Given the description of an element on the screen output the (x, y) to click on. 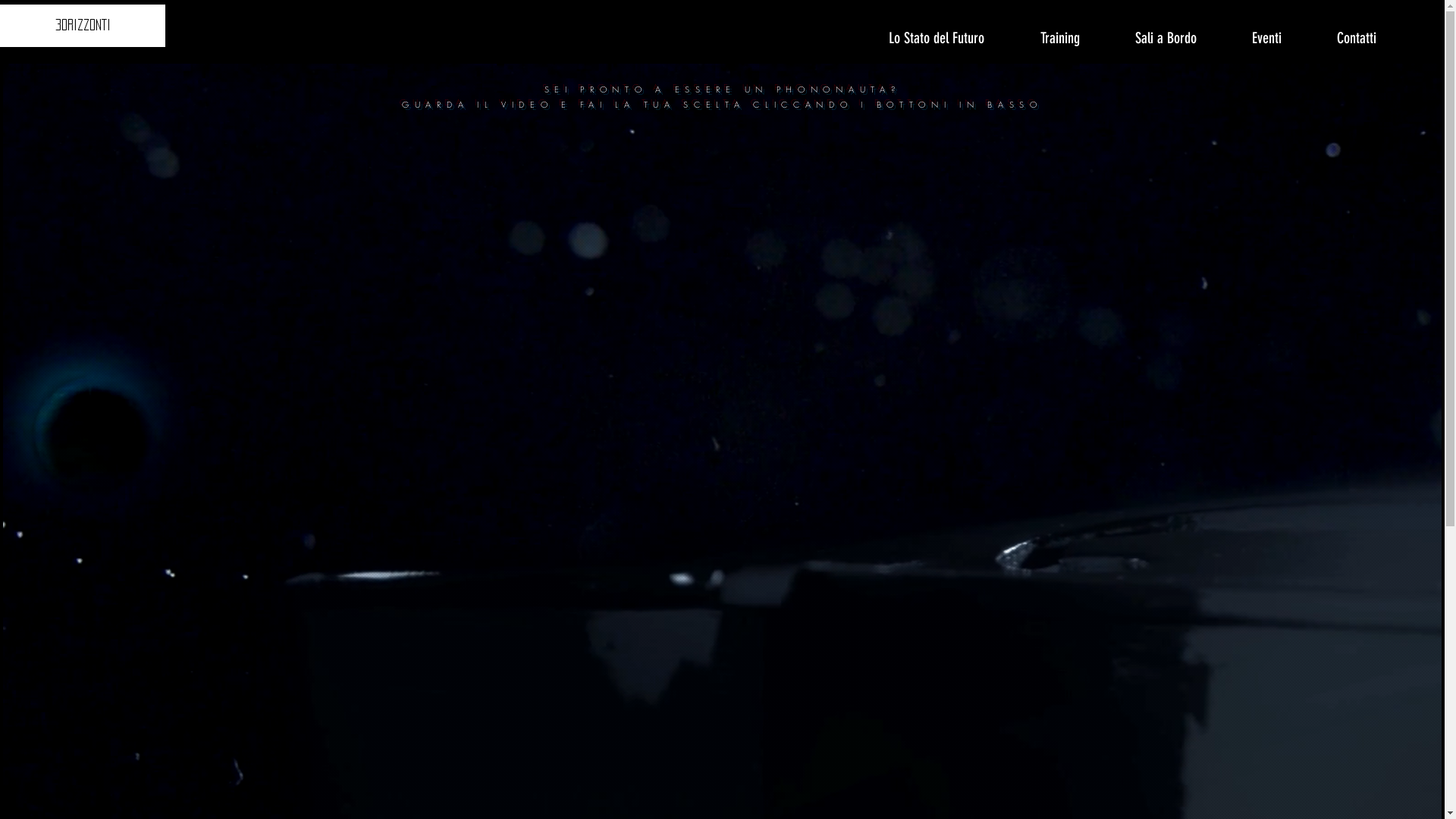
Sali a Bordo Element type: text (1165, 38)
3ORIZZONTI Element type: text (82, 25)
Lo Stato del Futuro Element type: text (935, 38)
Training Element type: text (1059, 38)
Eventi Element type: text (1265, 38)
Contatti Element type: text (1355, 38)
